Given the description of an element on the screen output the (x, y) to click on. 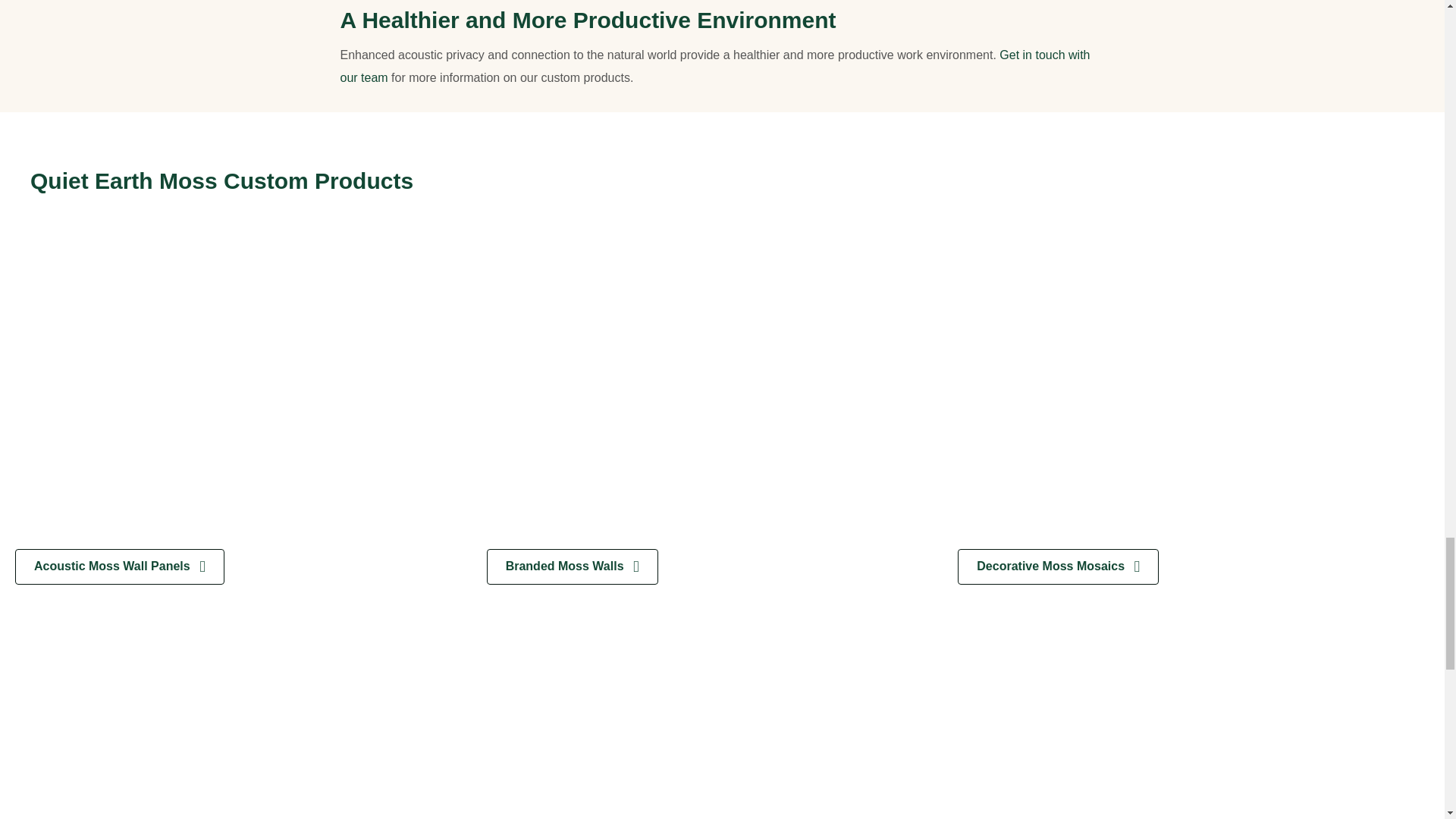
MossPlanters (1193, 717)
3D-Moss-Panel (721, 717)
QEMBrandedMoss (721, 391)
moss frame art (250, 717)
Mask Group 41 (249, 391)
Decorative-Moss-Mosaic (1193, 391)
